Given the description of an element on the screen output the (x, y) to click on. 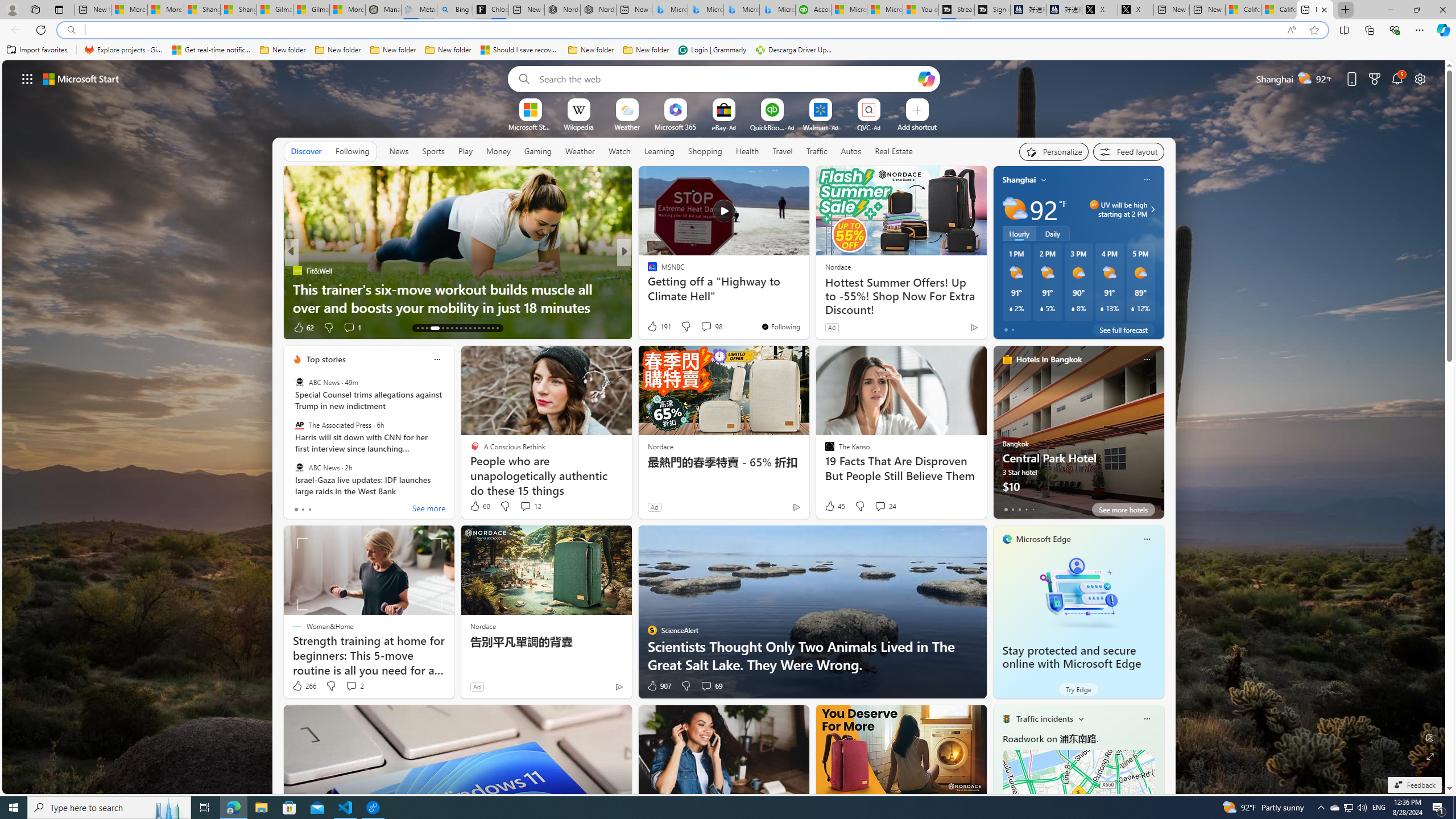
Expand background (1430, 756)
59 Like (652, 327)
View comments 24 Comment (879, 505)
AutomationID: tab-27 (488, 328)
28 Like (652, 327)
Hotels in Bangkok (1048, 359)
